Given the description of an element on the screen output the (x, y) to click on. 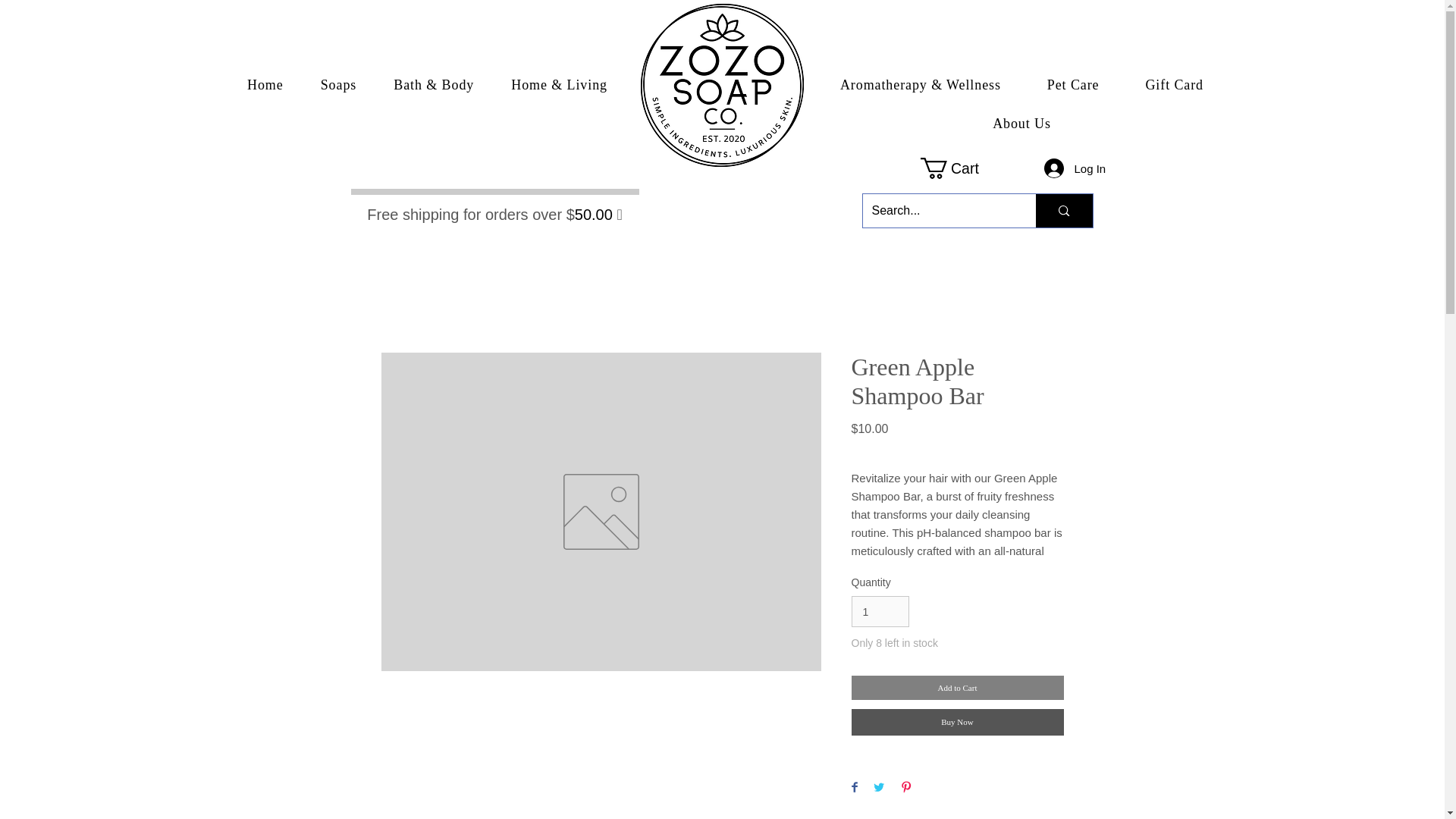
Log In (1062, 167)
Add to Cart (956, 688)
Pet Care (1072, 84)
1 (879, 611)
Cart (960, 168)
Cart (960, 168)
Gift Card (1174, 84)
Buy Now (956, 722)
Home (265, 84)
Untitled design.png (722, 85)
